Given the description of an element on the screen output the (x, y) to click on. 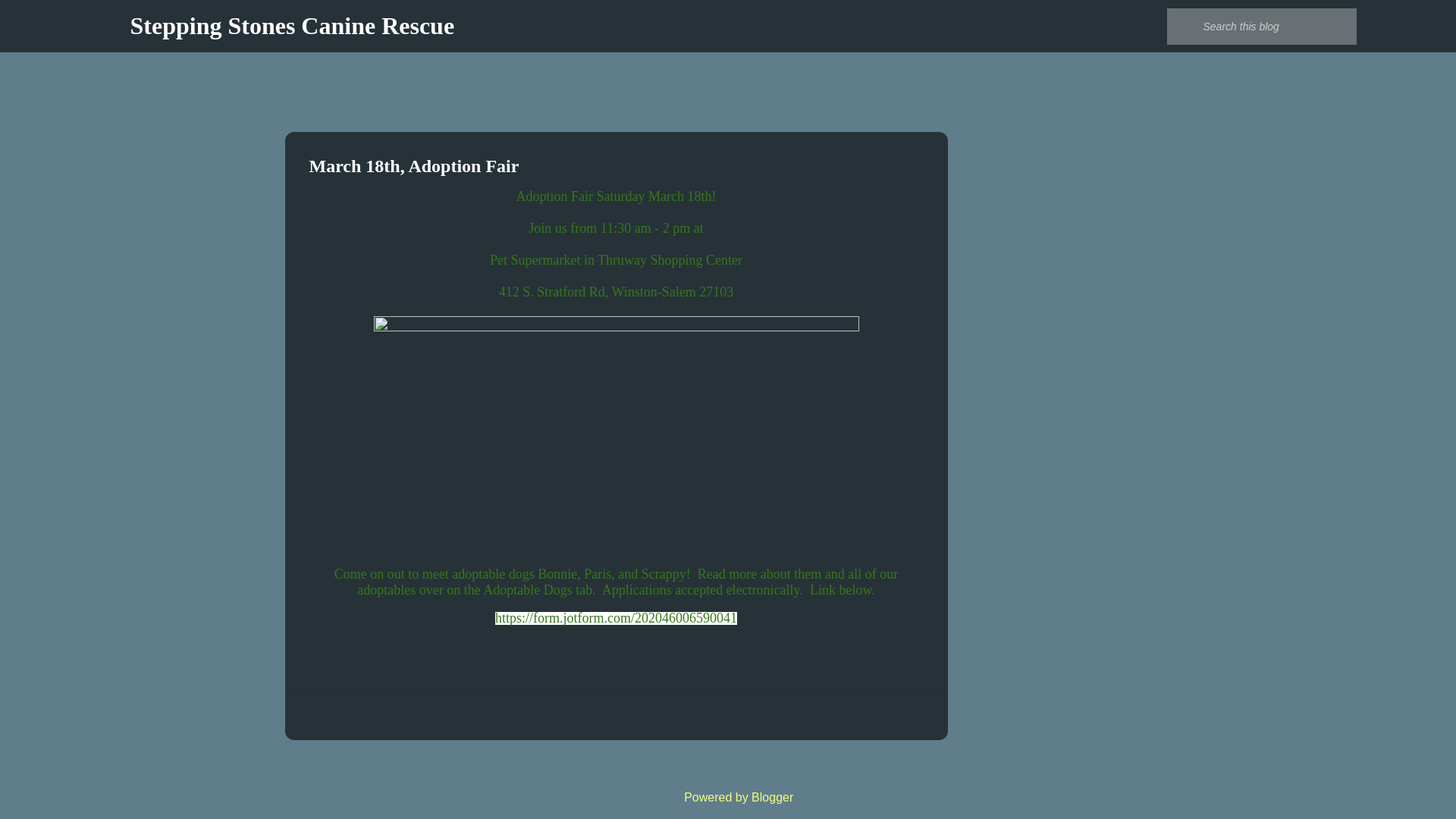
Powered by Blogger (727, 797)
Stepping Stones Canine Rescue (292, 25)
